Given the description of an element on the screen output the (x, y) to click on. 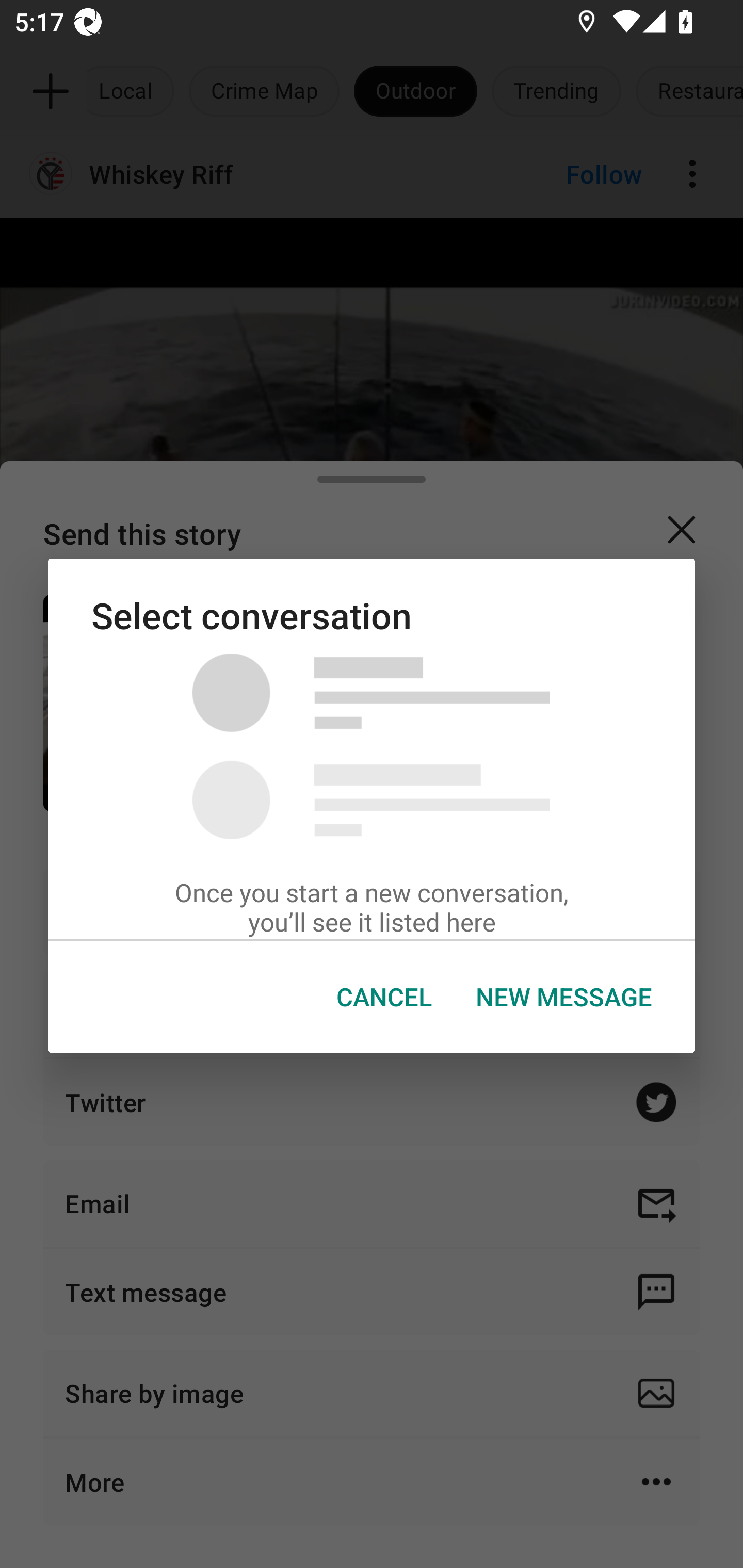
CANCEL (384, 996)
NEW MESSAGE (563, 996)
